Given the description of an element on the screen output the (x, y) to click on. 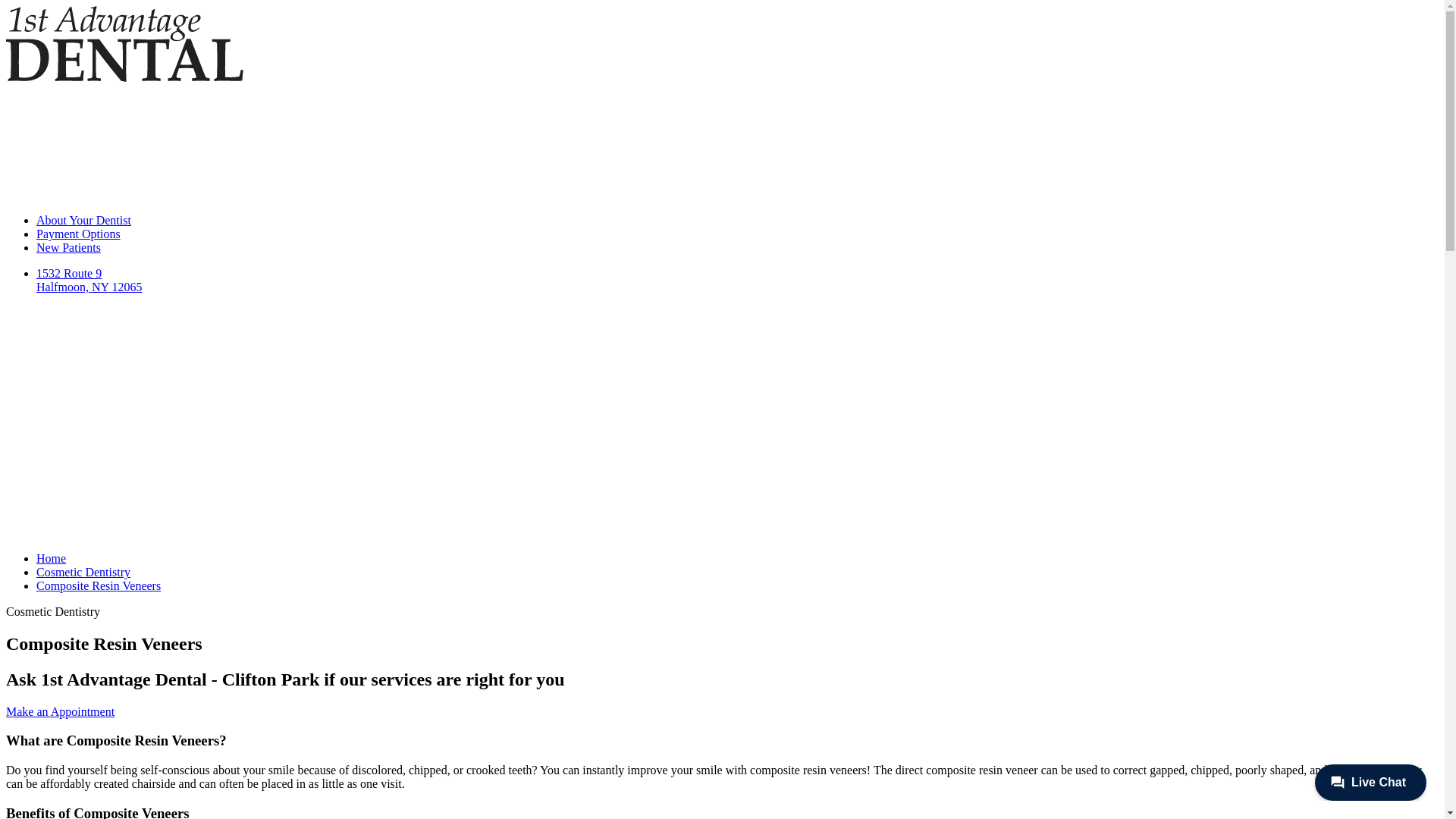
Cosmetic Dentistry Element type: text (83, 571)
Payment Options Element type: text (78, 233)
Composite Resin Veneers Element type: text (98, 585)
1532 Route 9
Halfmoon, NY 12065 Element type: text (737, 338)
About Your Dentist Element type: text (83, 219)
Make an Appointment Element type: text (60, 711)
New Patients Element type: text (68, 247)
Home Element type: text (50, 558)
